Given the description of an element on the screen output the (x, y) to click on. 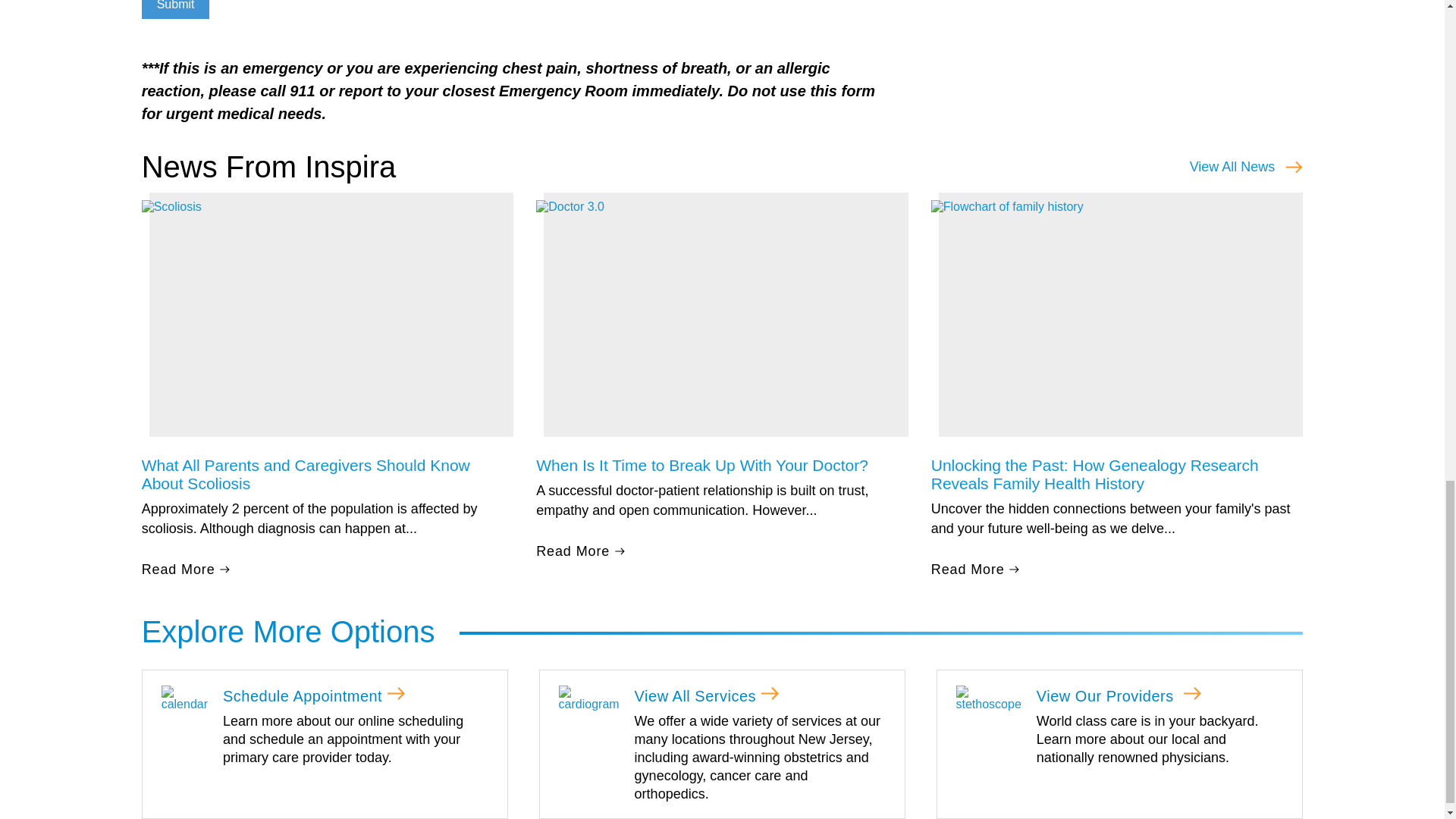
View All Services (589, 698)
Submit (175, 9)
Schedule Appointment (184, 698)
View All News (1246, 167)
View Our Providers  (987, 698)
Submit (175, 9)
